Given the description of an element on the screen output the (x, y) to click on. 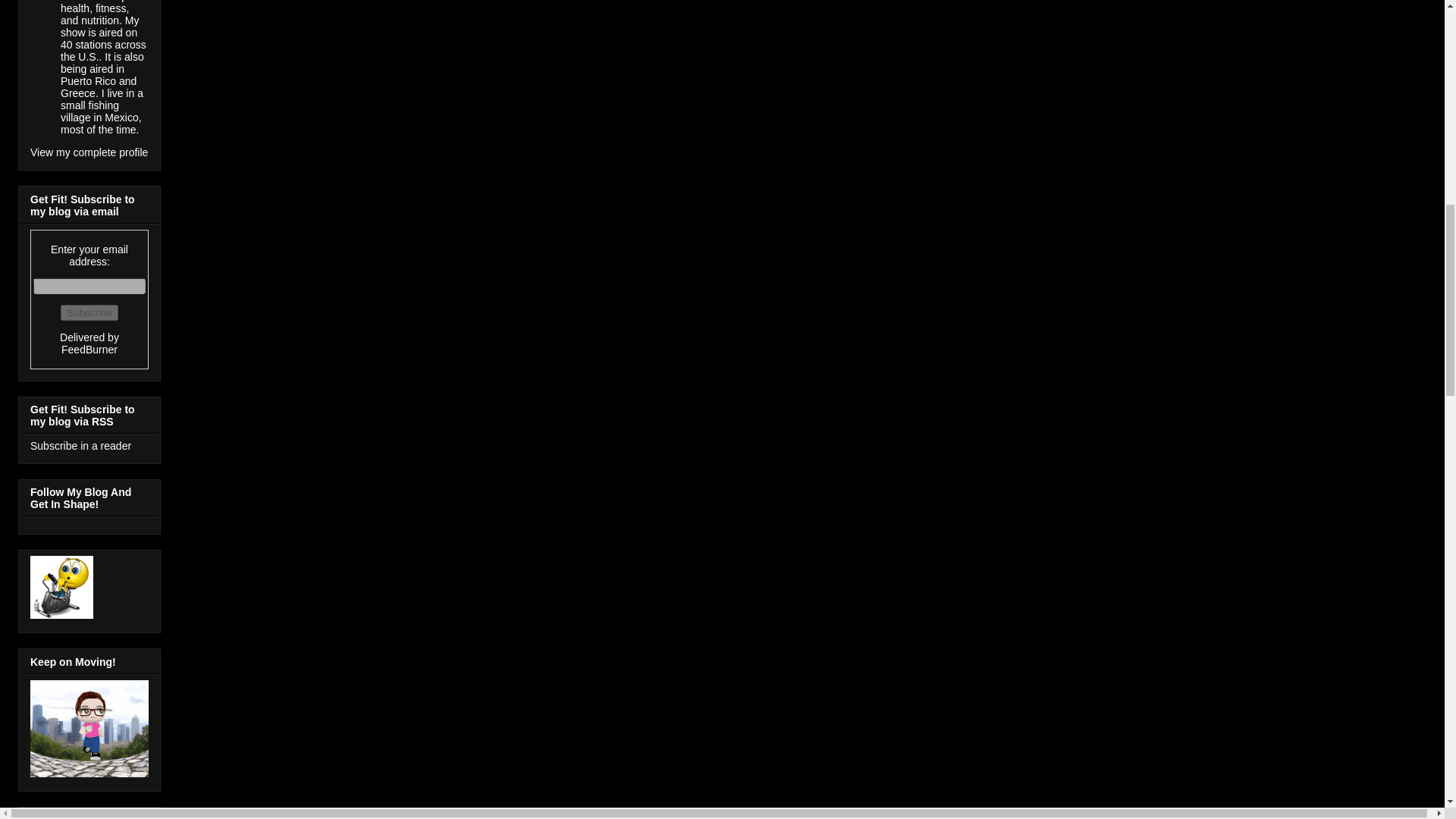
Subscribe to my feed (80, 445)
Subscribe (89, 312)
Subscribe in a reader (80, 445)
Subscribe (89, 312)
FeedBurner (89, 349)
View my complete profile (89, 152)
